Given the description of an element on the screen output the (x, y) to click on. 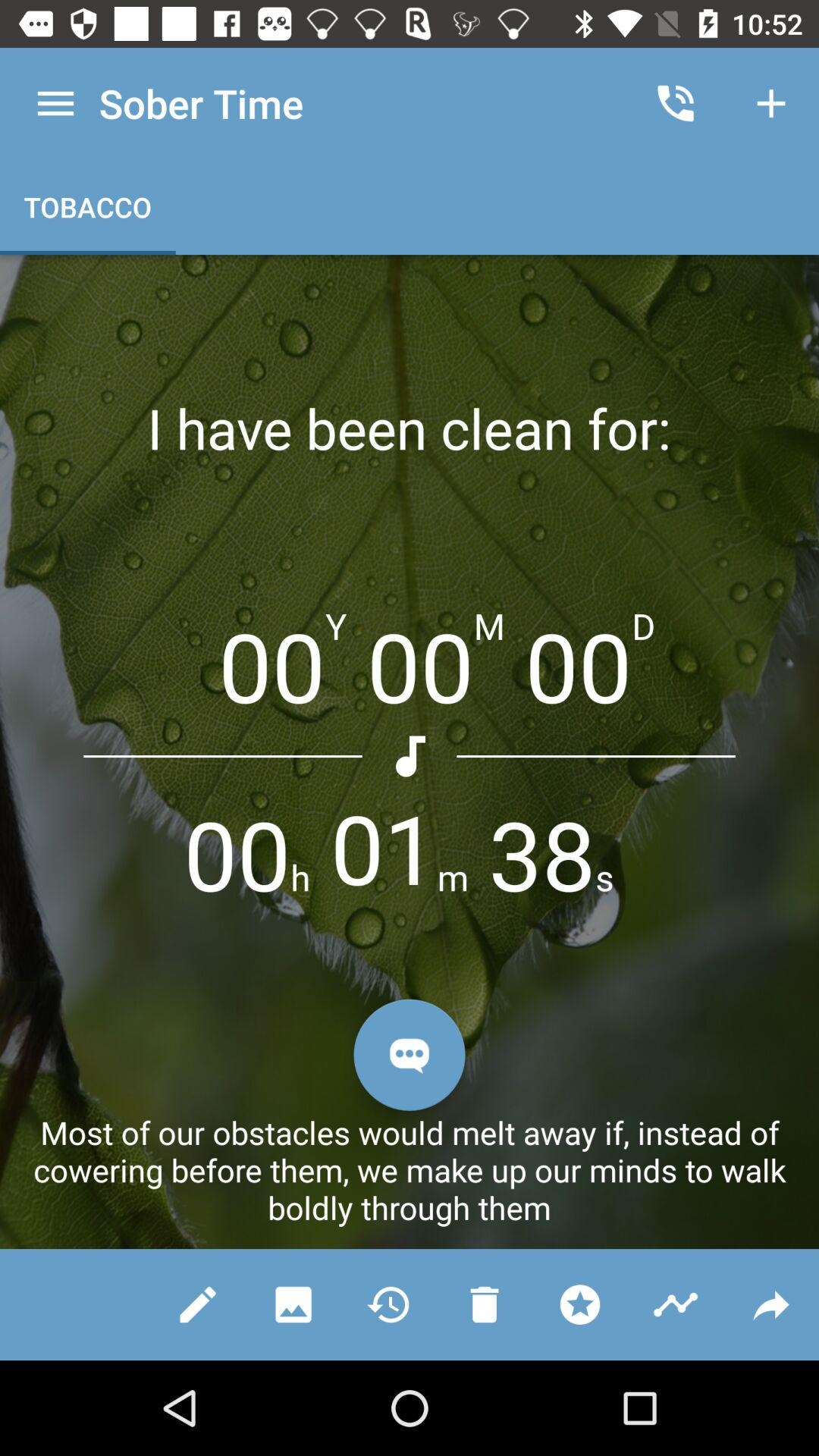
chat (409, 1054)
